Given the description of an element on the screen output the (x, y) to click on. 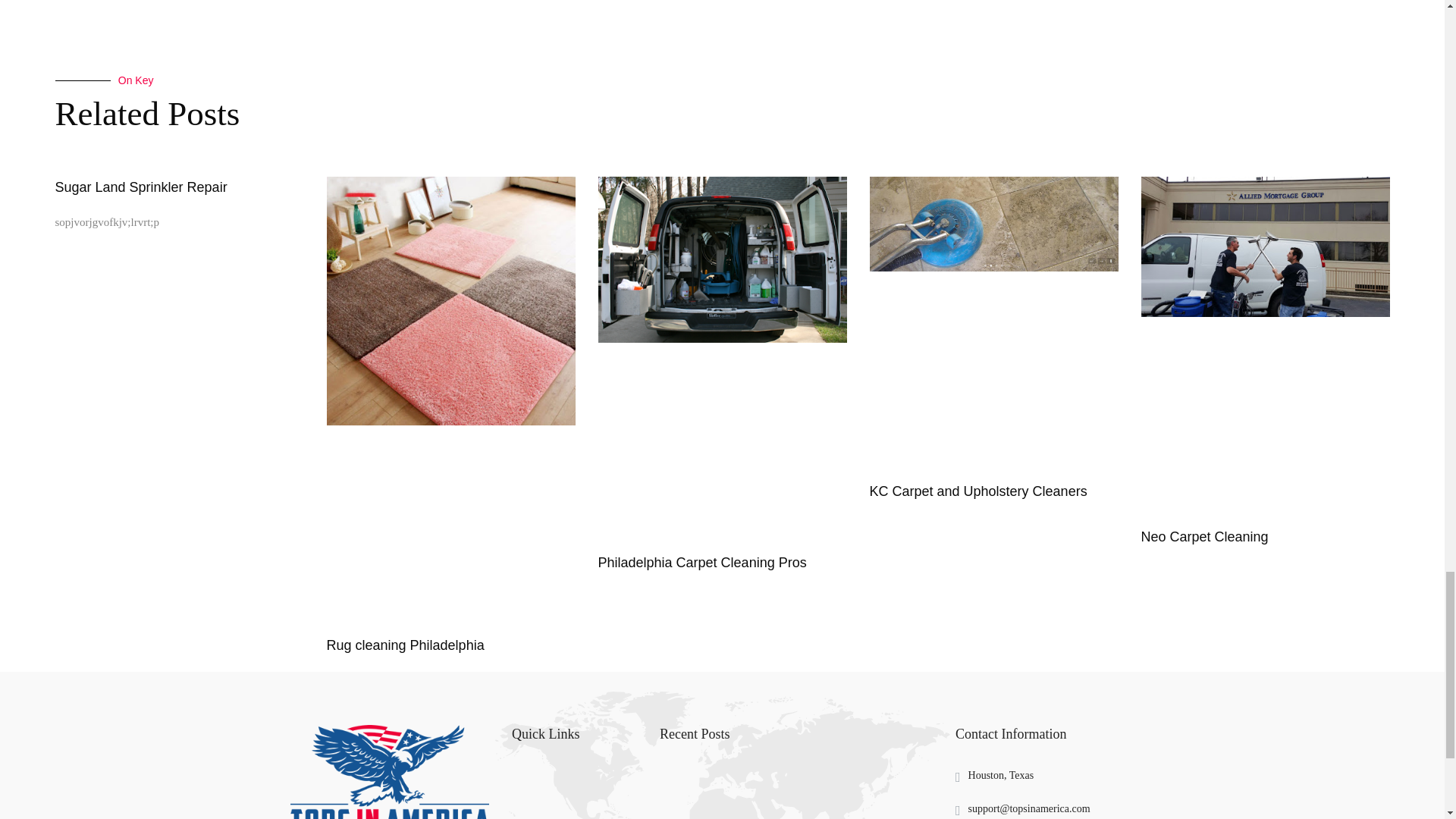
Sugar Land Sprinkler Repair (141, 186)
Neo Carpet Cleaning (1204, 536)
Philadelphia Carpet Cleaning Pros (701, 562)
Rug cleaning Philadelphia (404, 645)
KC Carpet and Upholstery Cleaners (977, 491)
